Given the description of an element on the screen output the (x, y) to click on. 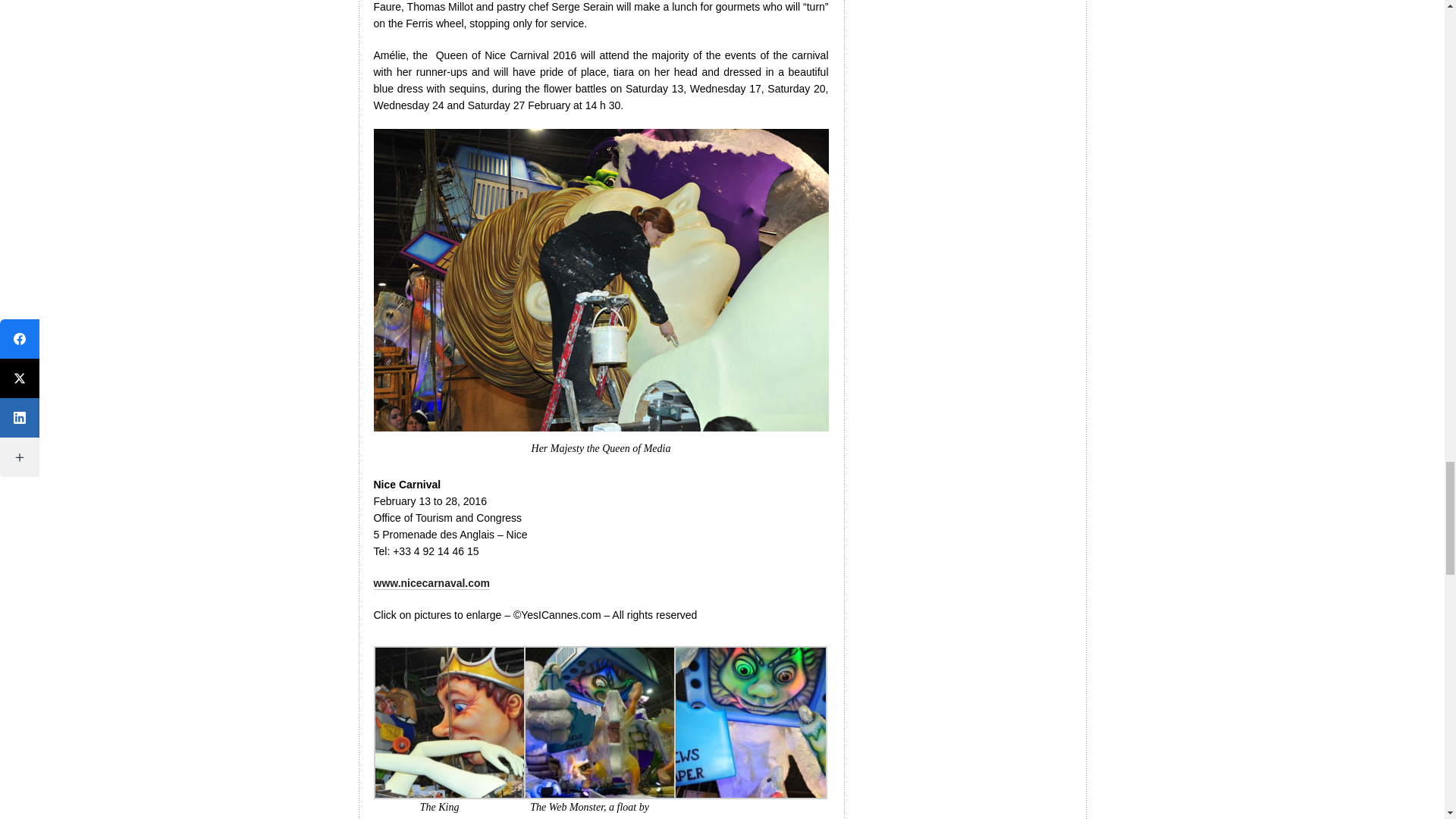
www.nicecarnaval.com (430, 583)
